Given the description of an element on the screen output the (x, y) to click on. 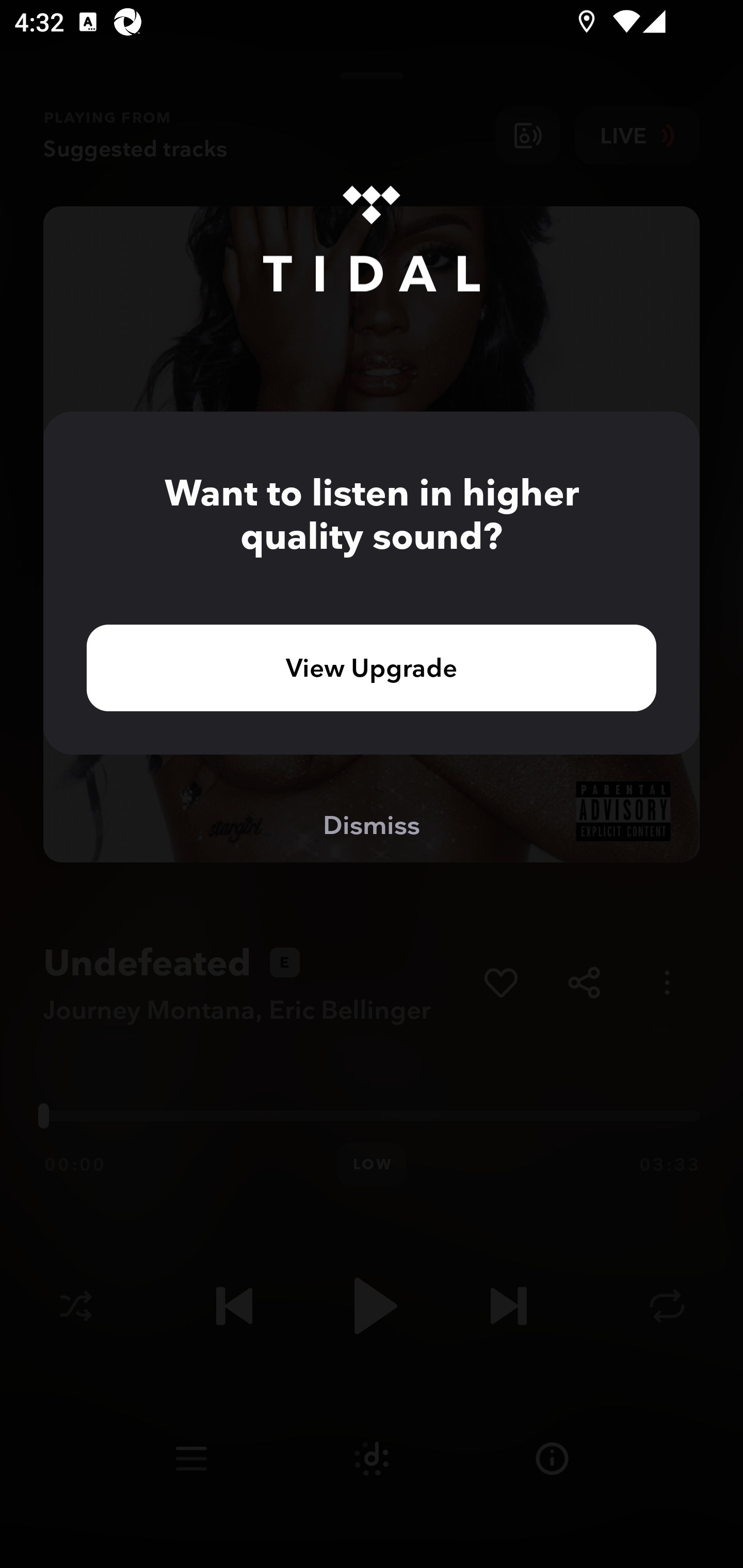
View Upgrade (371, 667)
Dismiss (371, 824)
